Given the description of an element on the screen output the (x, y) to click on. 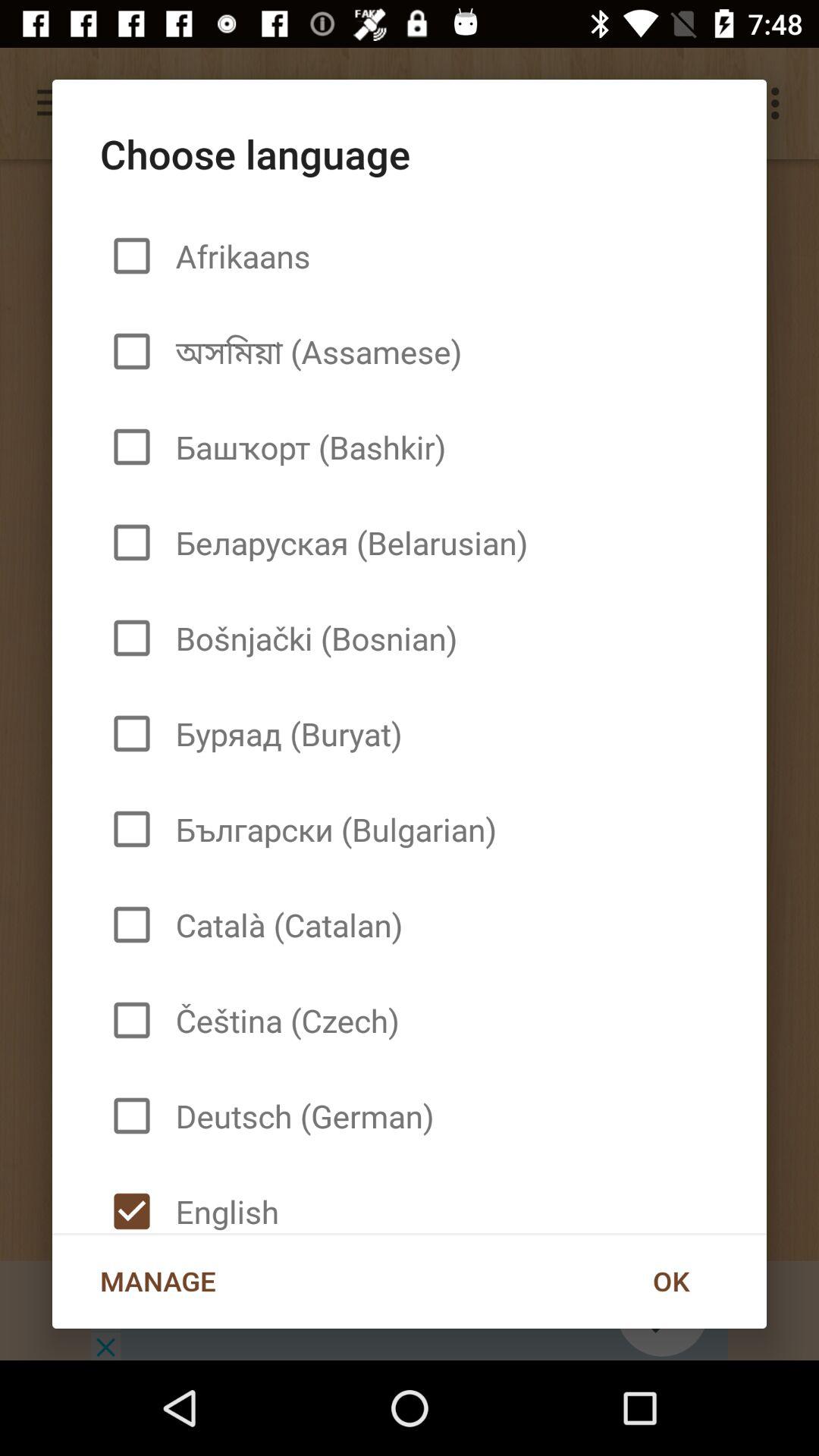
launch afrikaans icon (236, 255)
